Given the description of an element on the screen output the (x, y) to click on. 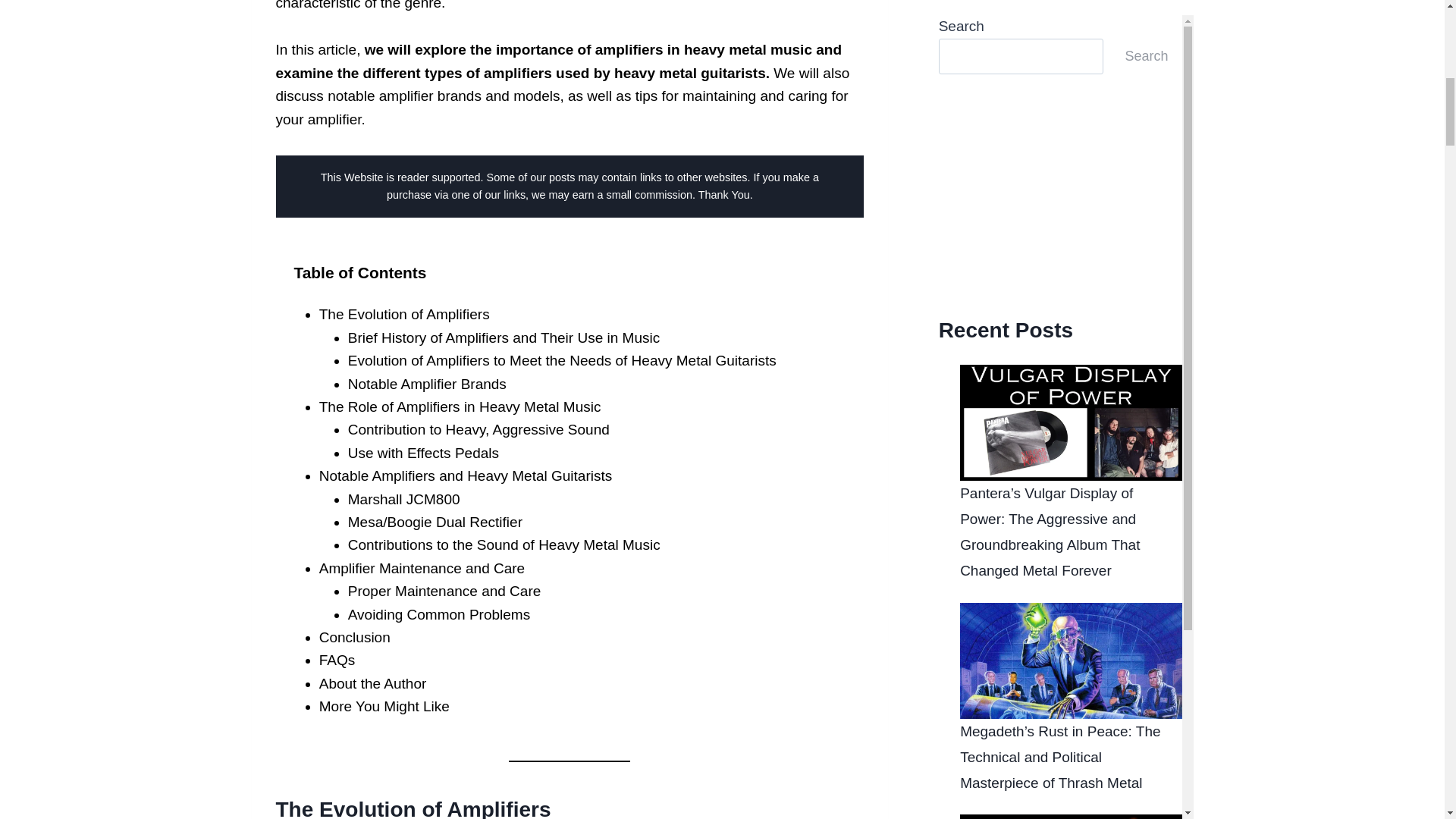
Proper Maintenance and Care (444, 590)
Notable Amplifier Brands (426, 383)
Notable Amplifiers and Heavy Metal Guitarists (465, 475)
Contribution to Heavy, Aggressive Sound (478, 429)
FAQs (336, 659)
The Role of Amplifiers in Heavy Metal Music (459, 406)
The Evolution of Amplifiers (403, 314)
Avoiding Common Problems (438, 614)
Contributions to the Sound of Heavy Metal Music (504, 544)
Marshall JCM800 (403, 498)
Amplifier Maintenance and Care (421, 568)
Use with Effects Pedals (423, 453)
Brief History of Amplifiers and Their Use in Music (503, 337)
Conclusion (354, 637)
